Given the description of an element on the screen output the (x, y) to click on. 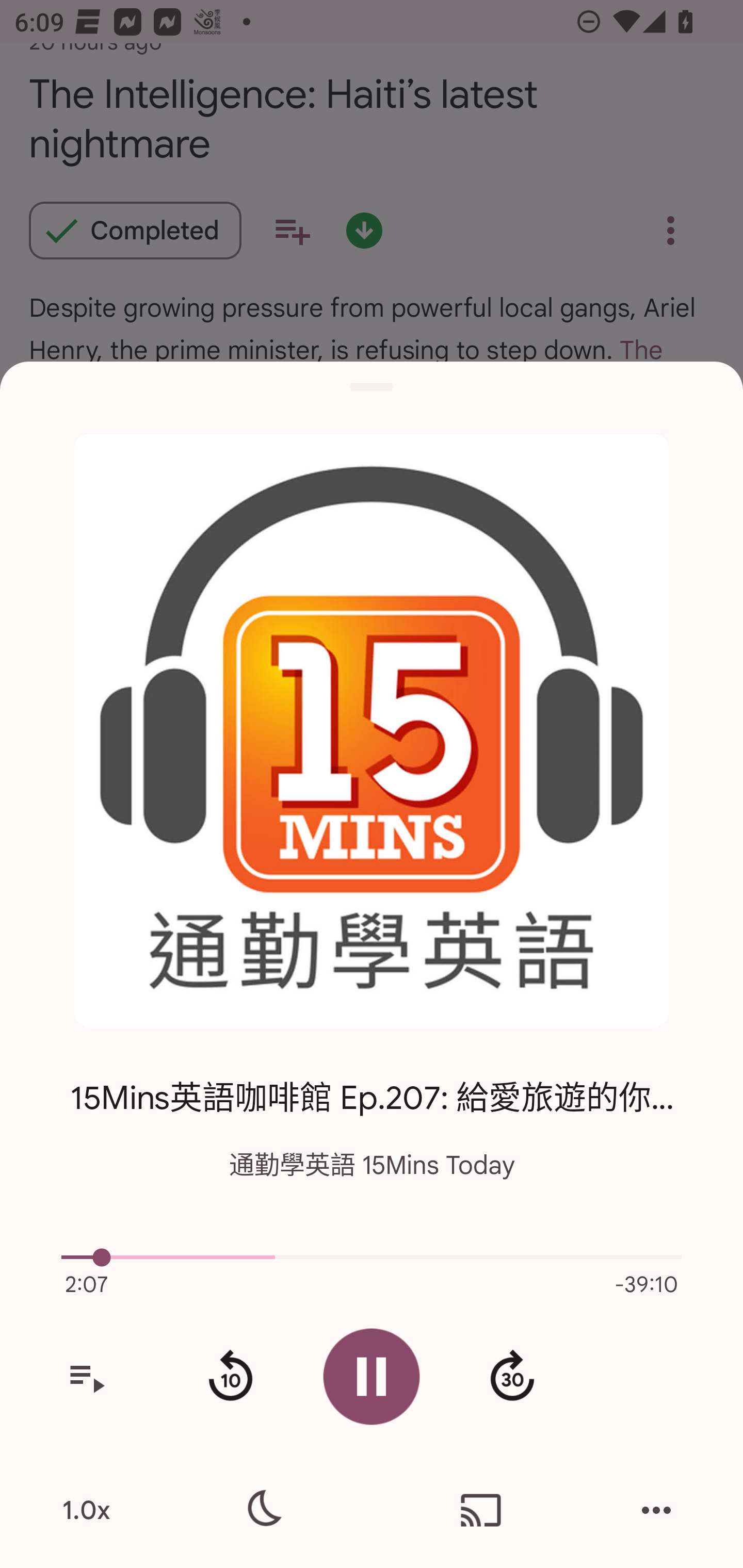
Open the show page for 通勤學英語 15Mins Today (371, 731)
514.0 Current episode playback (371, 1257)
Pause (371, 1376)
View your queue (86, 1376)
Rewind 10 seconds (230, 1376)
Fast forward 30 second (511, 1376)
1.0x Playback speed is 1.0. (86, 1510)
Sleep timer settings (261, 1510)
Cast. Disconnected (480, 1510)
More actions (655, 1510)
